Given the description of an element on the screen output the (x, y) to click on. 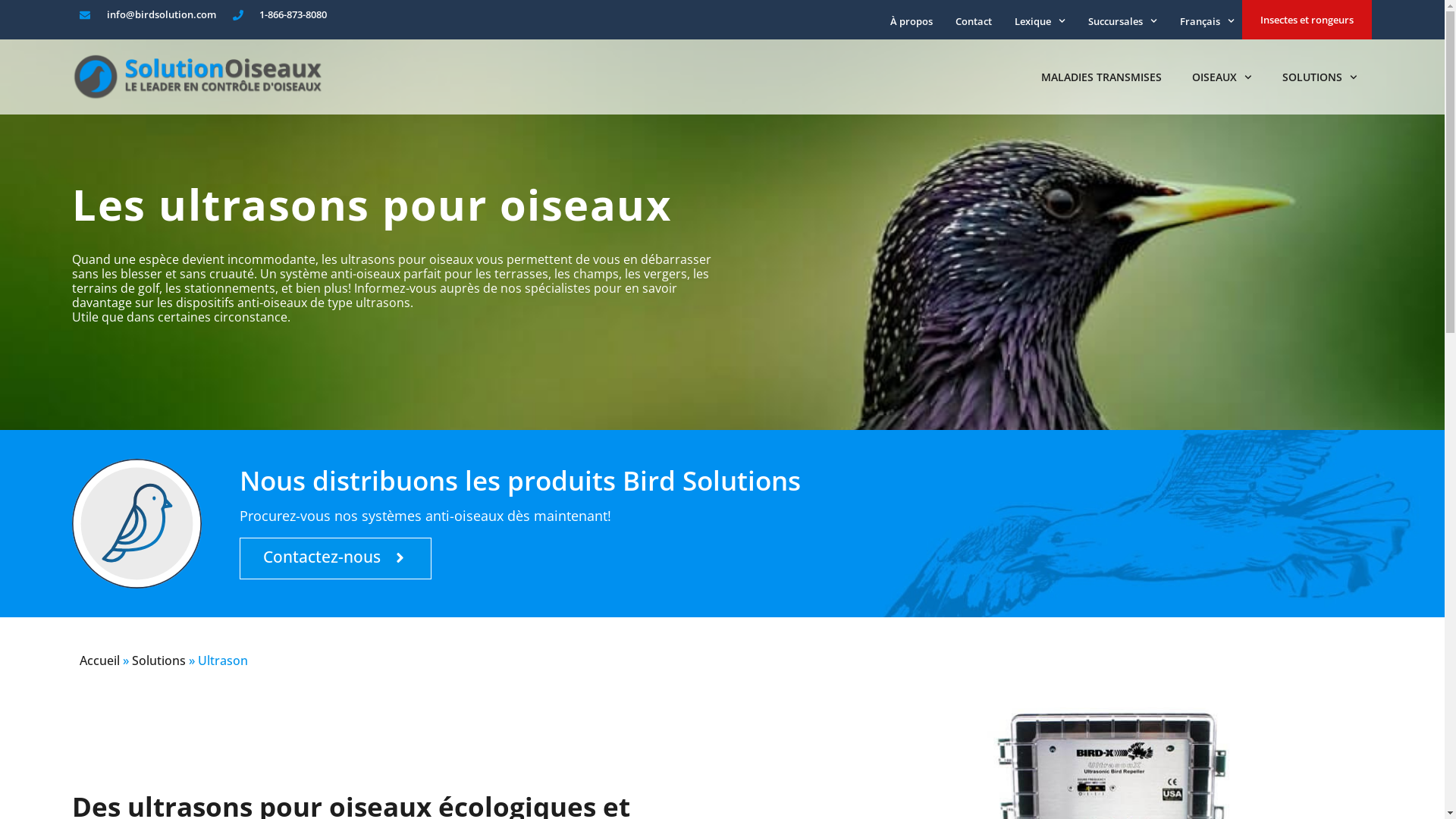
OISEAUX Element type: text (1221, 76)
Insectes et rongeurs Element type: text (1306, 19)
Contactez-nous Element type: text (335, 558)
SOLUTIONS Element type: text (1319, 76)
info@birdsolution.com Element type: text (147, 14)
Contact Element type: text (973, 21)
Accueil Element type: text (99, 660)
MALADIES TRANSMISES Element type: text (1101, 76)
Solutions Element type: text (158, 660)
Lexique Element type: text (1039, 21)
Succursales Element type: text (1122, 21)
1-866-873-8080 Element type: text (279, 14)
